Given the description of an element on the screen output the (x, y) to click on. 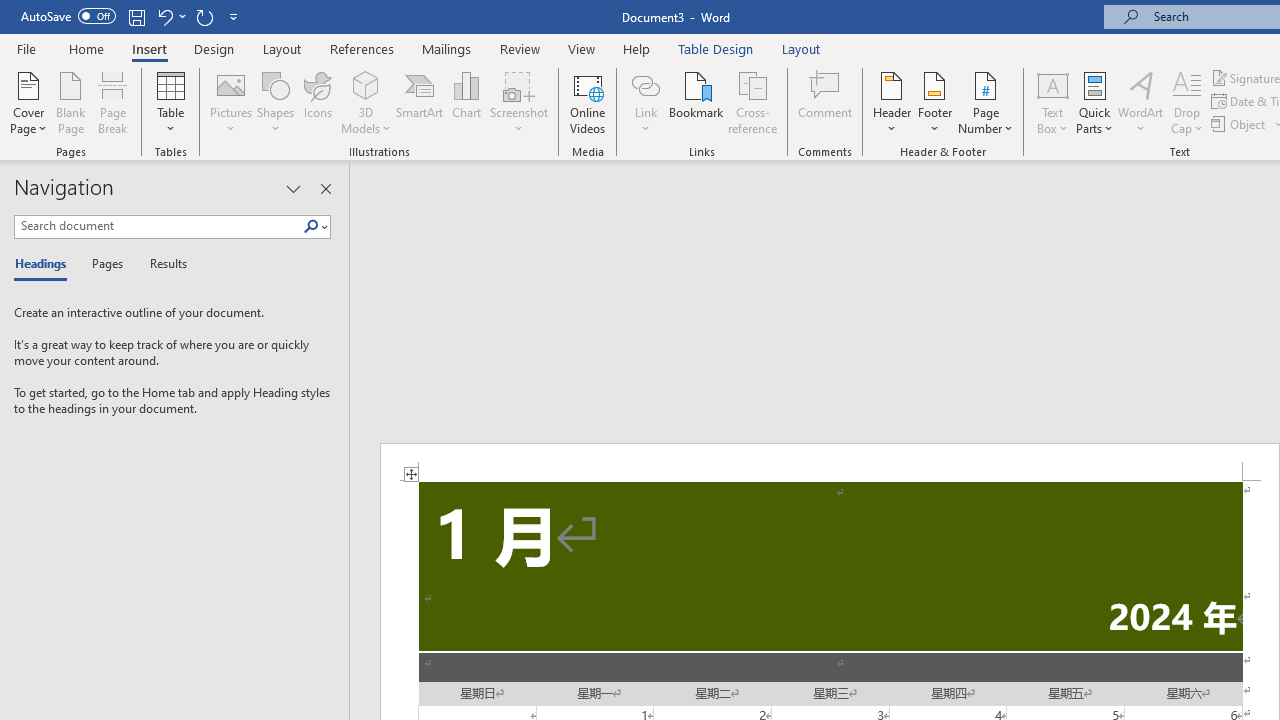
Drop Cap (1187, 102)
Footer (934, 102)
Icons (317, 102)
Page Break (113, 102)
Link (645, 102)
3D Models (366, 84)
Cross-reference... (752, 102)
Quick Parts (1094, 102)
